Given the description of an element on the screen output the (x, y) to click on. 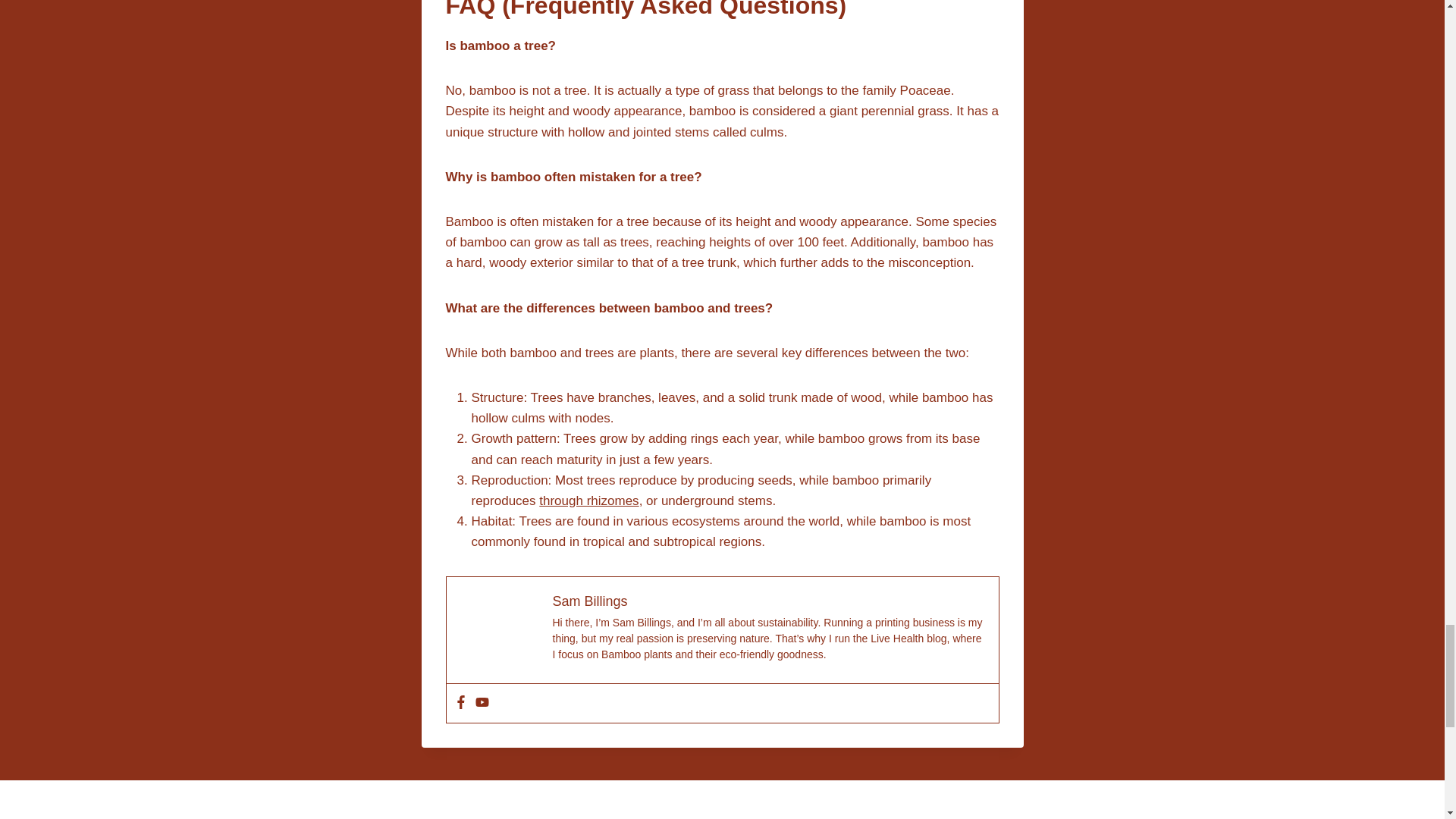
Sam Billings (589, 601)
through rhizomes (588, 500)
